Given the description of an element on the screen output the (x, y) to click on. 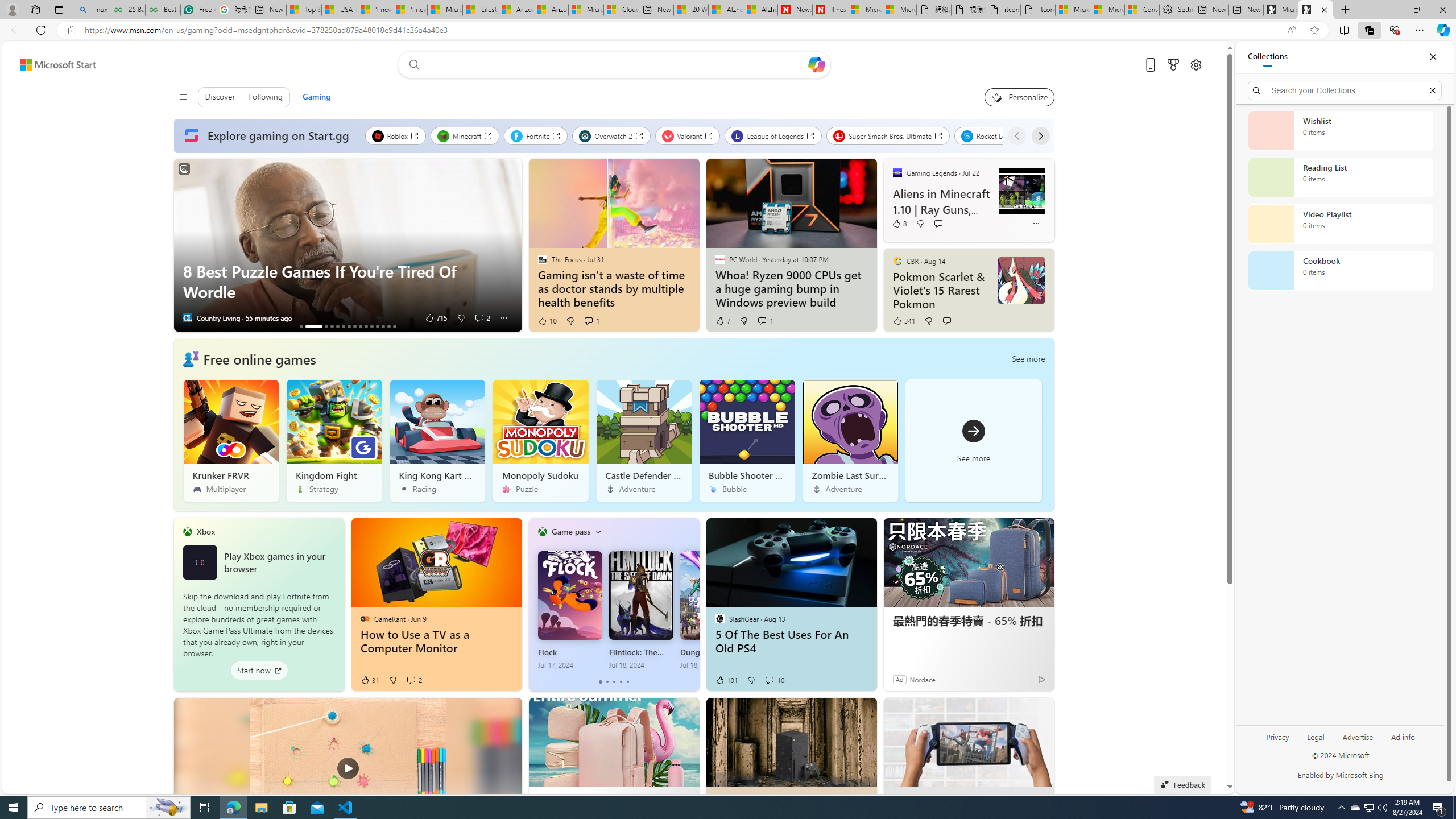
View comments 1 Comment (764, 320)
Hide this story (1019, 711)
20 Ways to Boost Your Protein Intake at Every Meal (690, 9)
8 Best Puzzle Games If You're Tired Of Wordle (347, 281)
Krunker FRVR (230, 440)
